Given the description of an element on the screen output the (x, y) to click on. 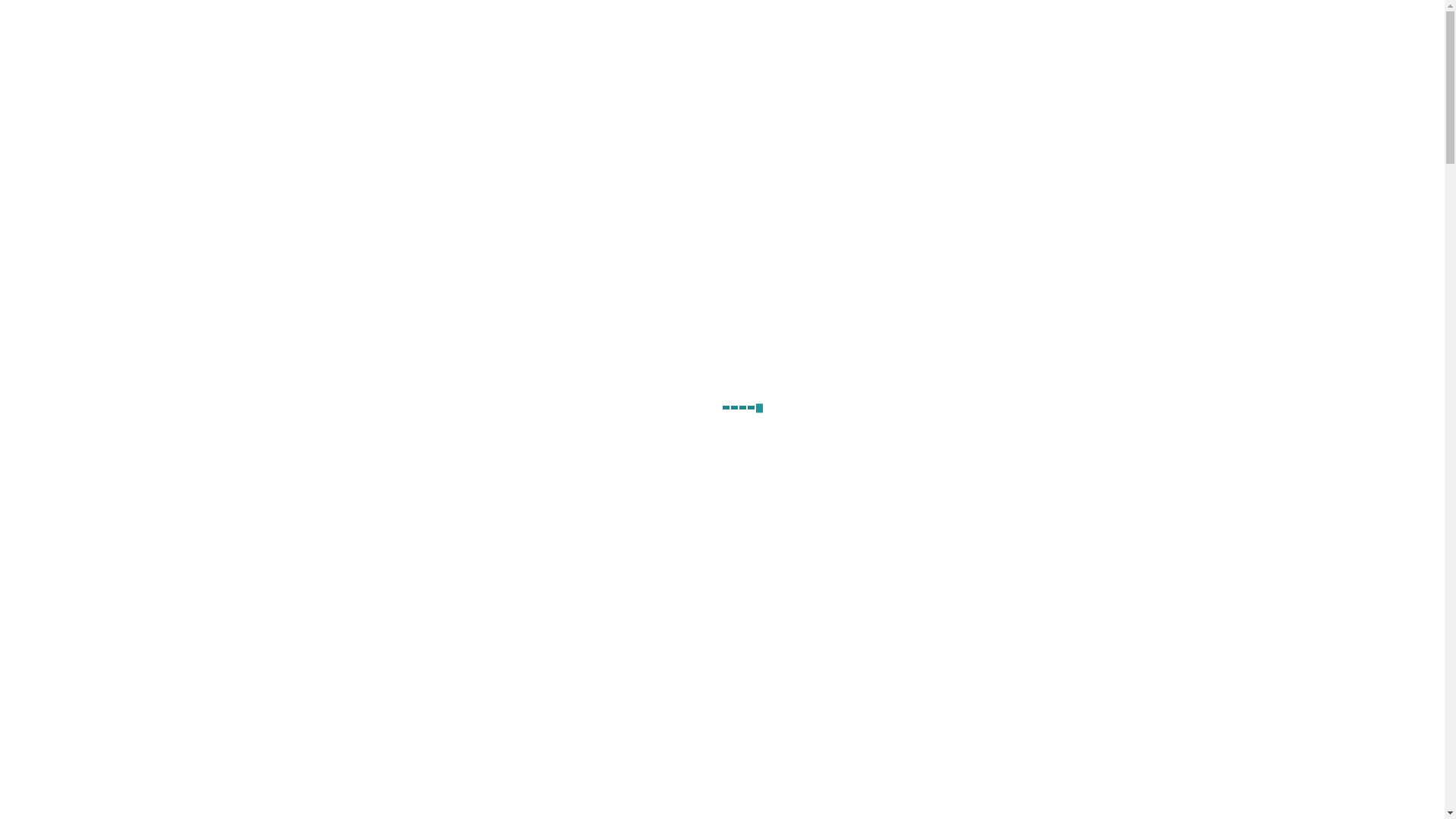
Veranstaltungen Element type: text (1088, 619)
Architektur & Bau Element type: text (857, 619)
Mehr erfahren Element type: text (536, 746)
Business Portraits Element type: text (389, 619)
Fotografisches Angebot Element type: text (1112, 51)
Mehr erfahren Element type: text (300, 746)
Mehr erfahren Element type: text (1004, 746)
Produktfotos Element type: text (607, 619)
Home Element type: text (930, 51)
Mehr erfahren Element type: text (769, 746)
